Given the description of an element on the screen output the (x, y) to click on. 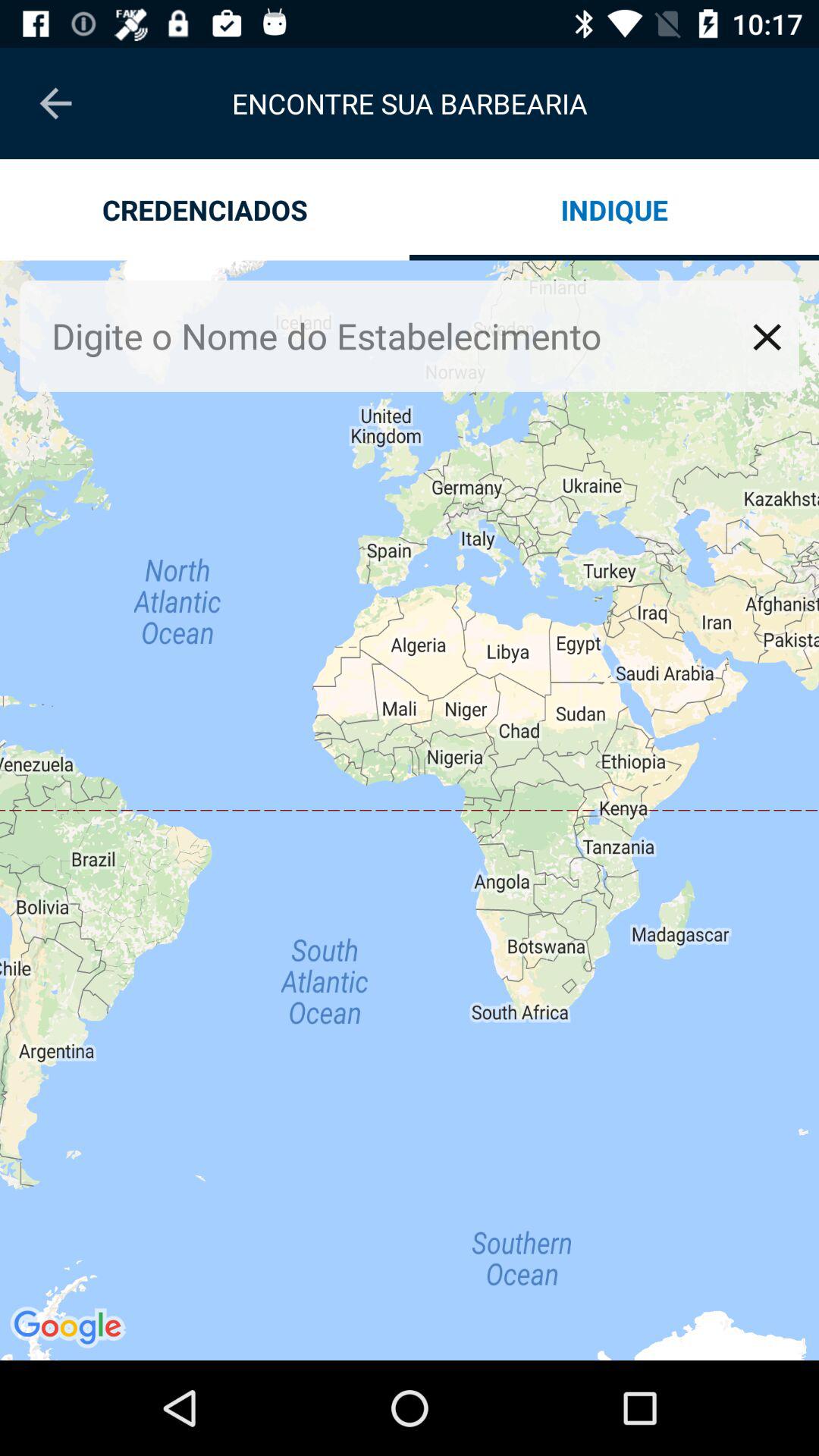
press item next to indique app (204, 209)
